Given the description of an element on the screen output the (x, y) to click on. 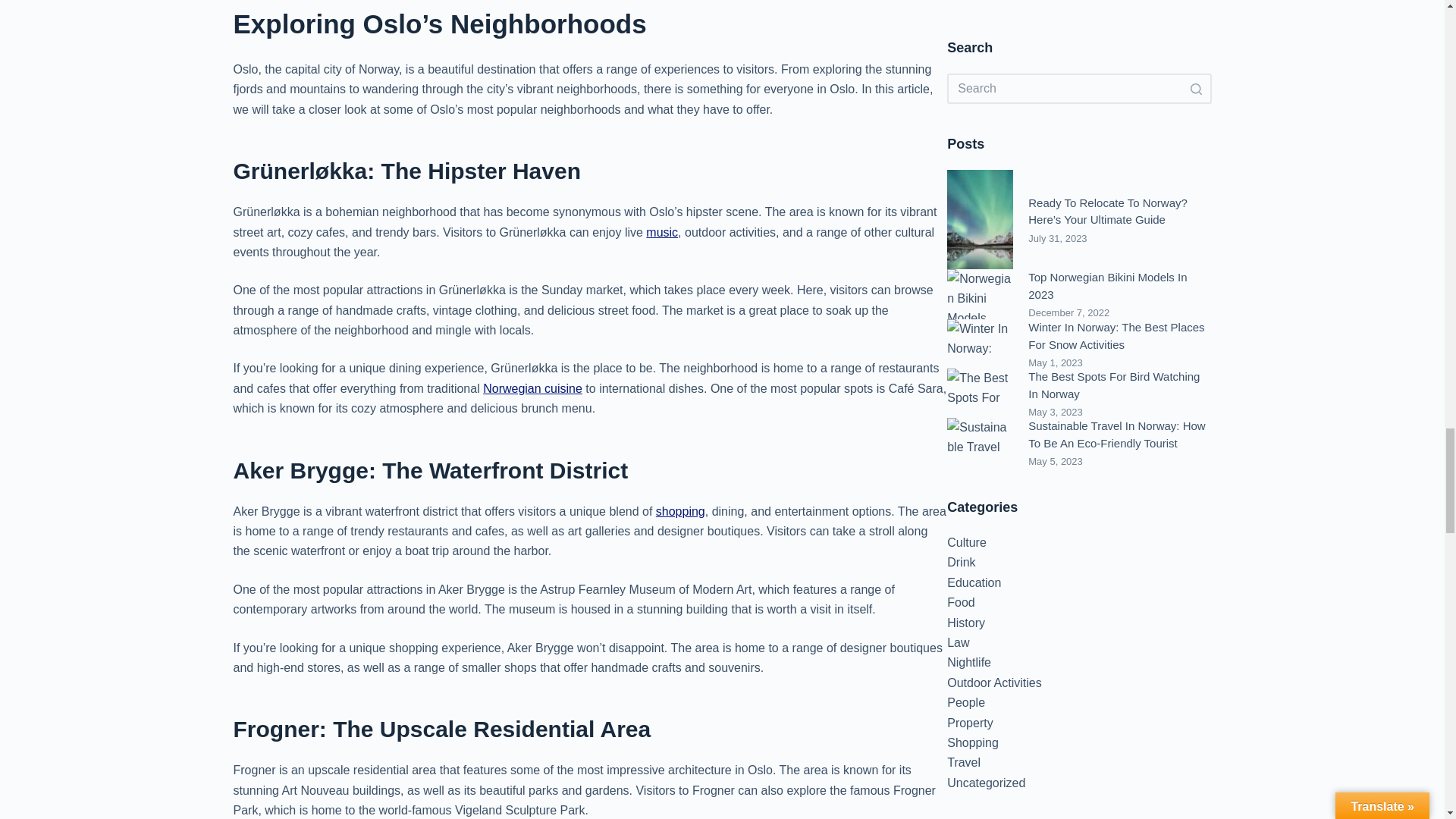
Norwegian Cuisine: A Foodie's Journey Through Norway (532, 388)
Norway's Music Festivals: A Summer Guide (662, 232)
